Given the description of an element on the screen output the (x, y) to click on. 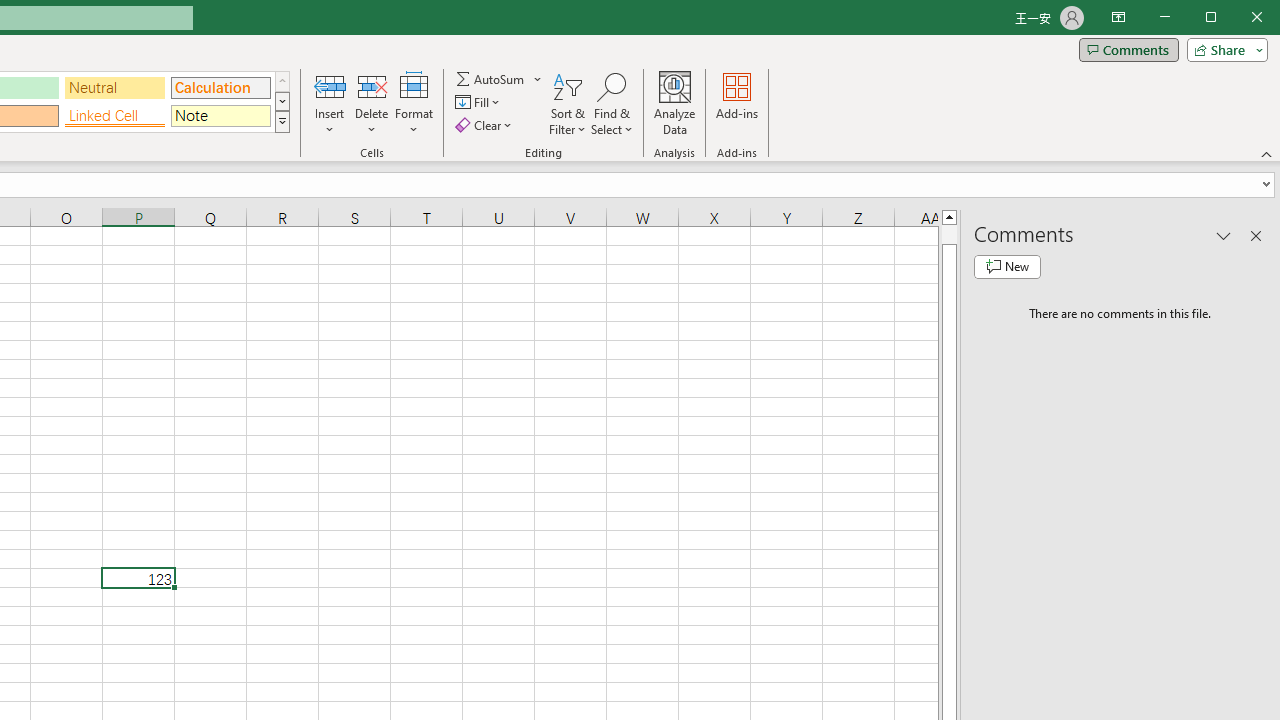
Page up (948, 234)
Neutral (114, 88)
Calculation (220, 88)
Note (220, 116)
Linked Cell (114, 116)
New comment (1007, 266)
Format (414, 104)
